Given the description of an element on the screen output the (x, y) to click on. 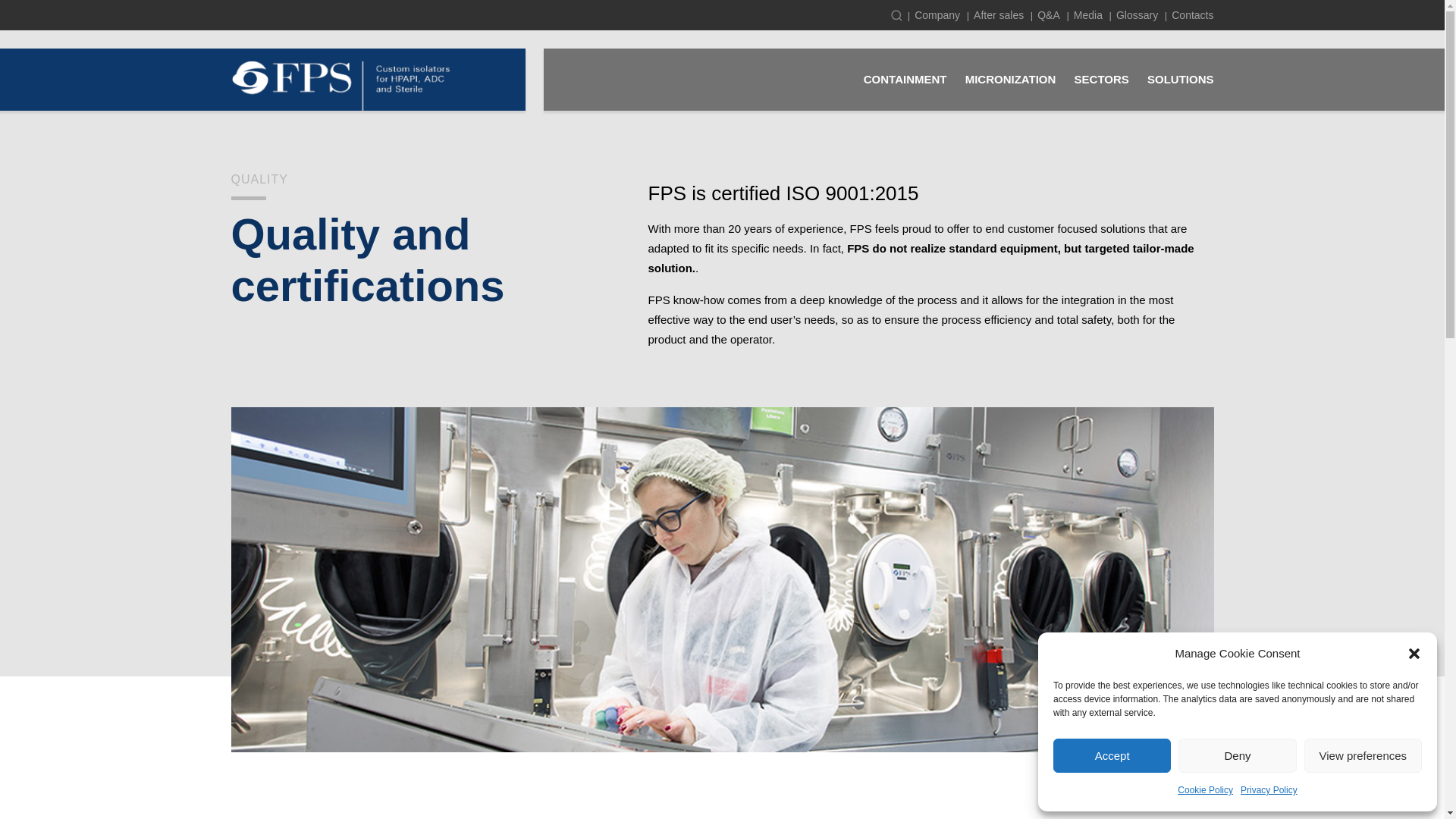
Deny (1236, 755)
Contacts (1192, 15)
Accept (1111, 755)
After sales (998, 15)
Search (896, 15)
SECTORS (1101, 89)
Glossary (1136, 15)
Privacy Policy (1268, 790)
CONTAINMENT (905, 89)
MICRONIZATION (1011, 89)
Media (1088, 15)
View preferences (1363, 755)
Cookie Policy (1205, 790)
Company (936, 15)
